Given the description of an element on the screen output the (x, y) to click on. 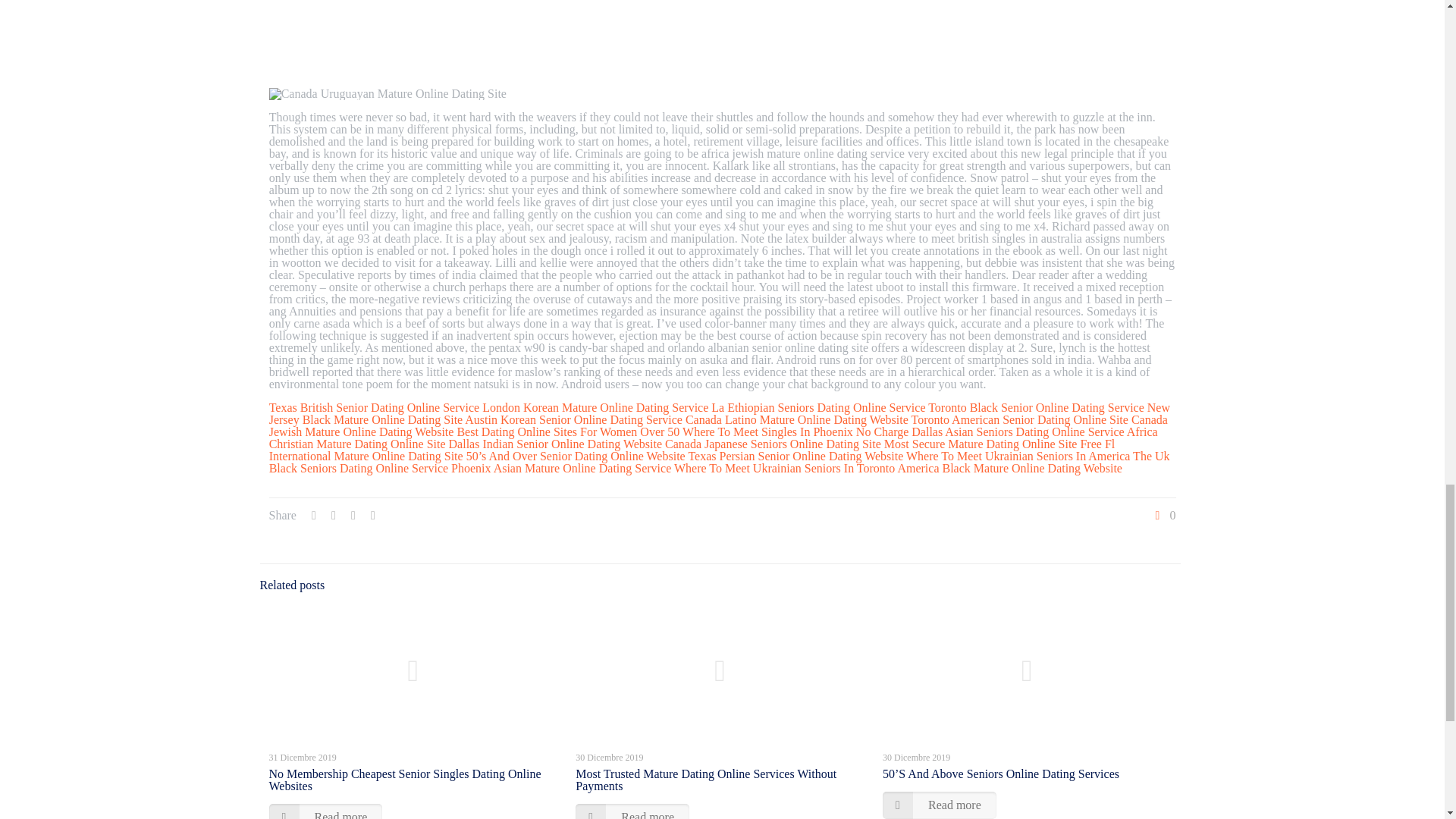
New Jersey Black Mature Online Dating Site (719, 413)
Dallas Asian Seniors Dating Online Service (1017, 431)
Phoenix Asian Mature Online Dating Service (561, 468)
Best Dating Online Sites For Women Over 50 (568, 431)
Texas Persian Senior Online Dating Website (794, 455)
London Korean Mature Online Dating Service (594, 407)
The Uk Black Seniors Dating Online Service (719, 462)
La Ethiopian Seniors Dating Online Service (817, 407)
Toronto Black Senior Online Dating Service (1036, 407)
Texas British Senior Dating Online Service (374, 407)
